Given the description of an element on the screen output the (x, y) to click on. 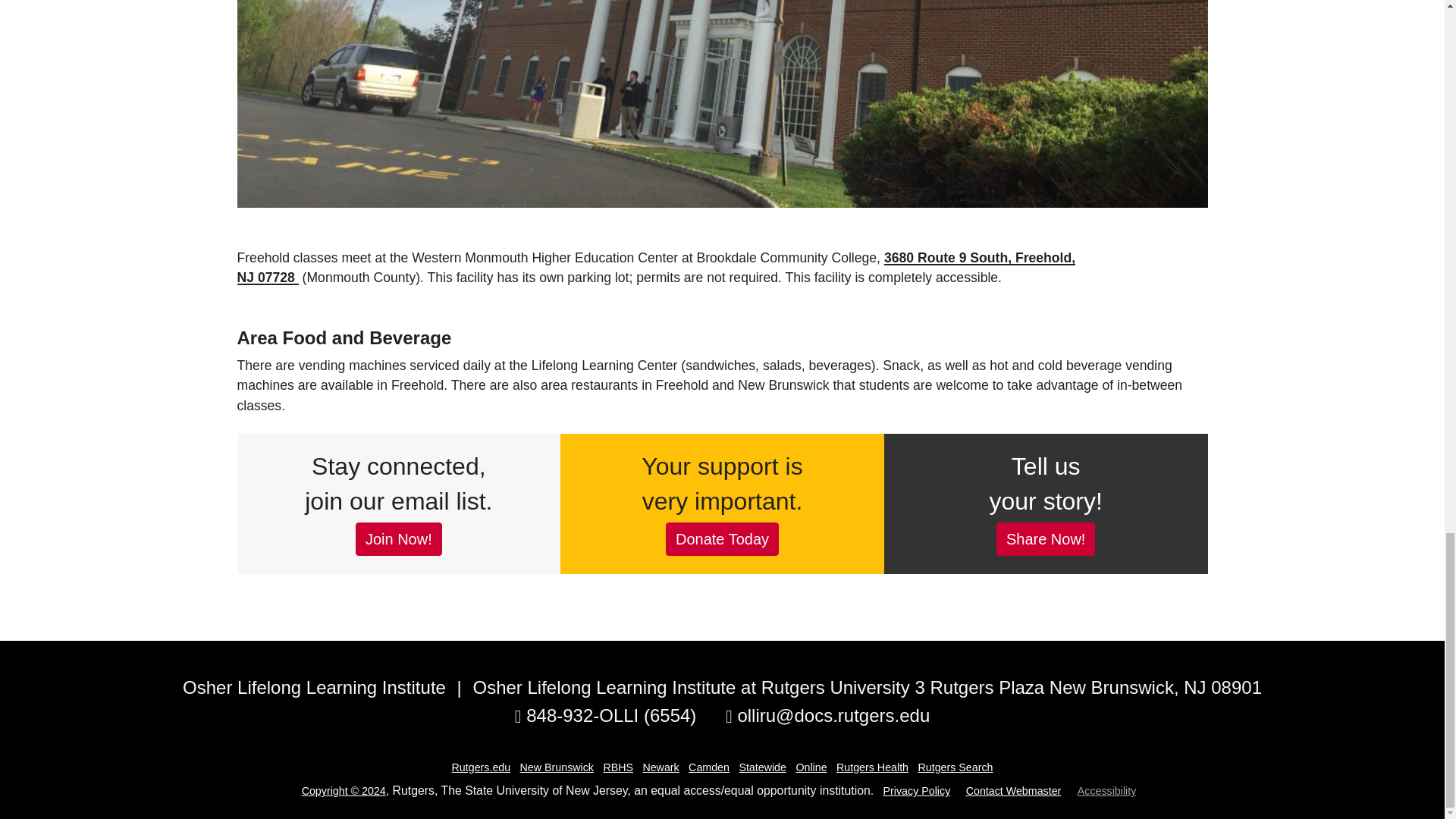
3680 Route 9 South, Freehold, NJ 07728  (655, 267)
Contact Webmaster (1013, 790)
Email (827, 716)
New Brunswick (556, 767)
Department (313, 688)
Donate Today (721, 539)
Statewide (762, 767)
Rutgers Search (954, 767)
Camden (708, 767)
Join Now! (398, 539)
Address (862, 688)
Phone (606, 716)
Share Now! (1045, 539)
Privacy Policy (916, 790)
Newark (660, 767)
